Given the description of an element on the screen output the (x, y) to click on. 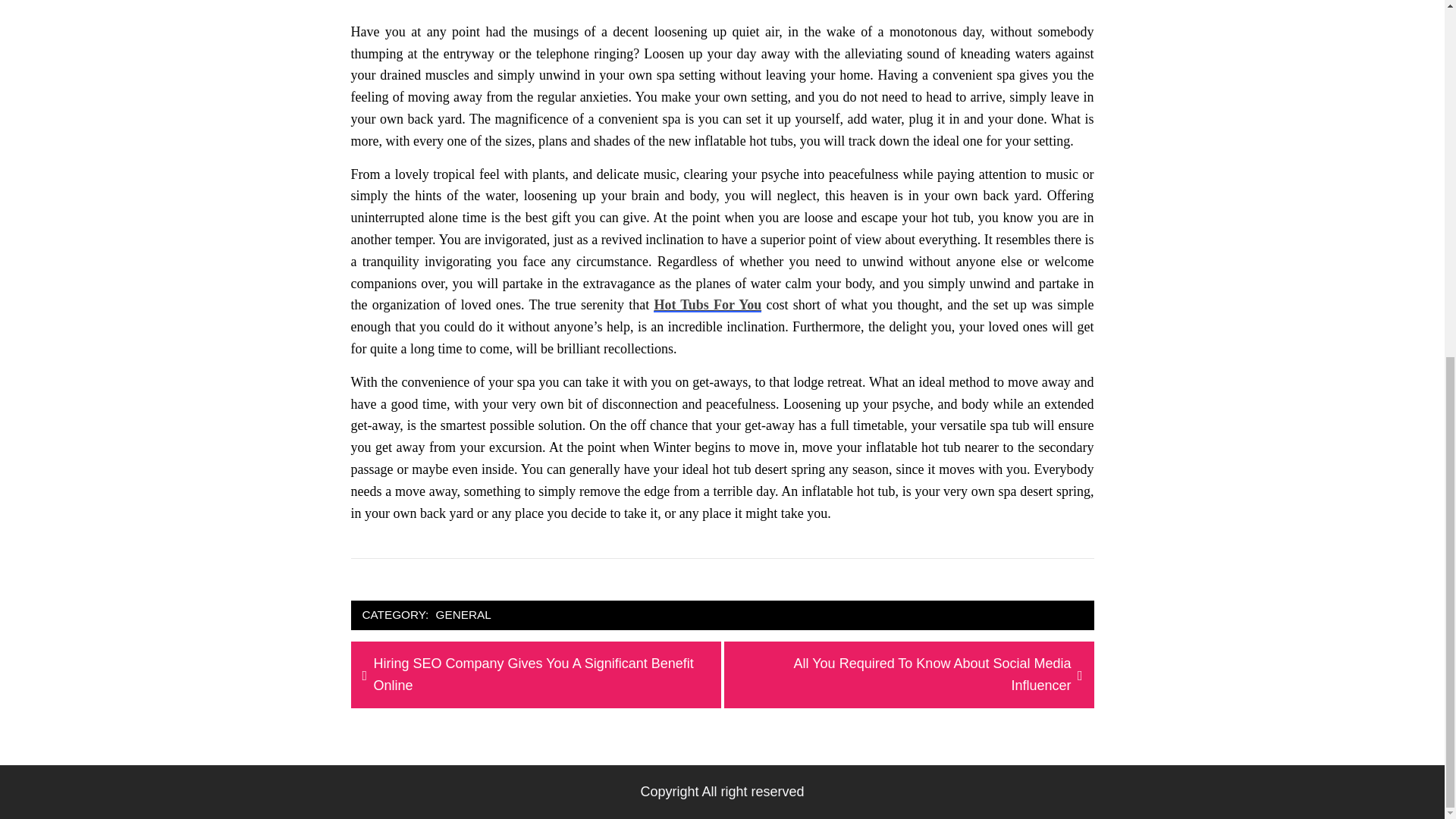
Hot Tubs For You (707, 304)
GENERAL (463, 615)
